Given the description of an element on the screen output the (x, y) to click on. 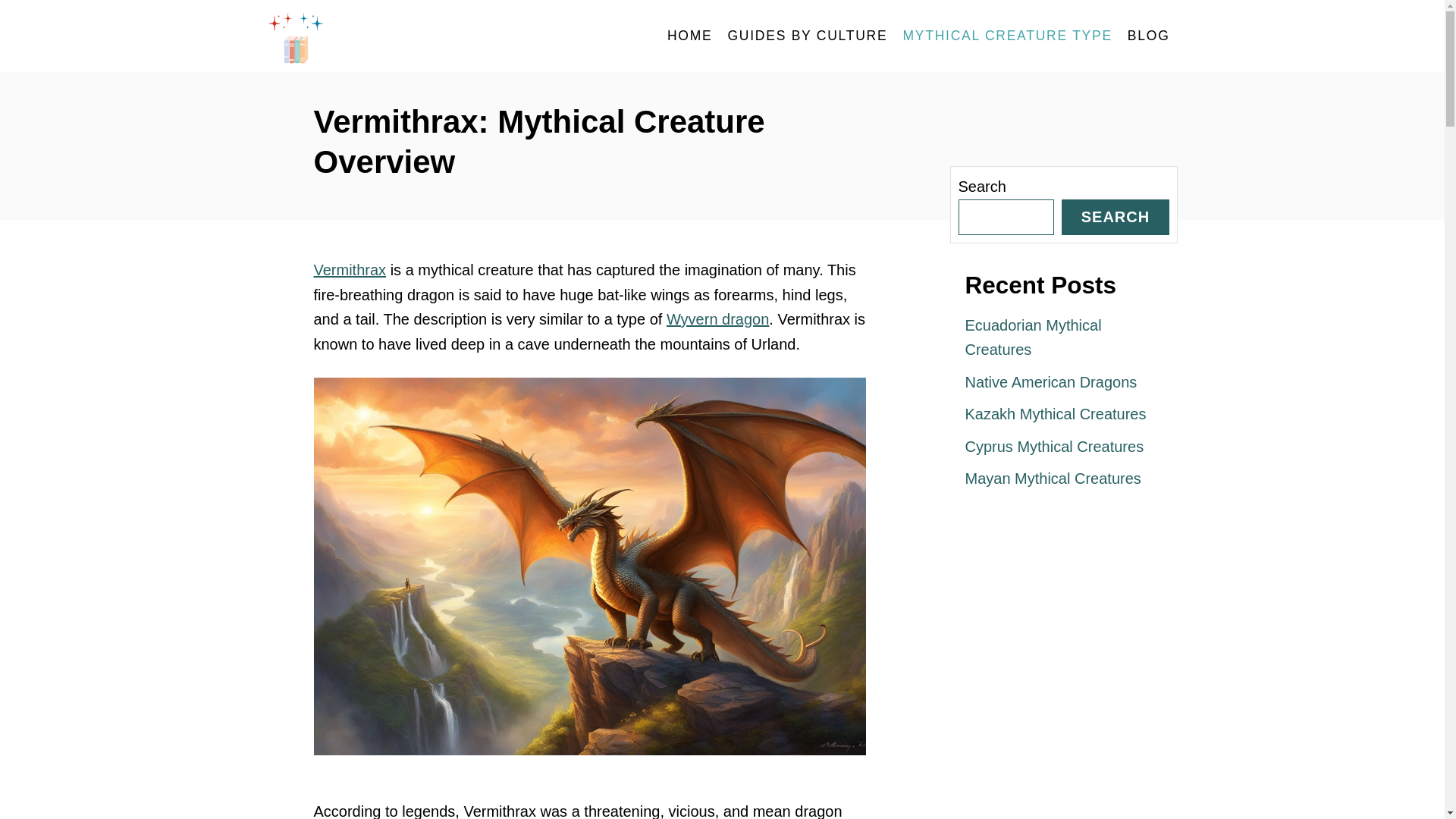
MYTHICAL CREATURE TYPE (1007, 36)
HOME (689, 36)
GUIDES BY CULTURE (807, 36)
Mythical Encyclopedia (403, 36)
